Given the description of an element on the screen output the (x, y) to click on. 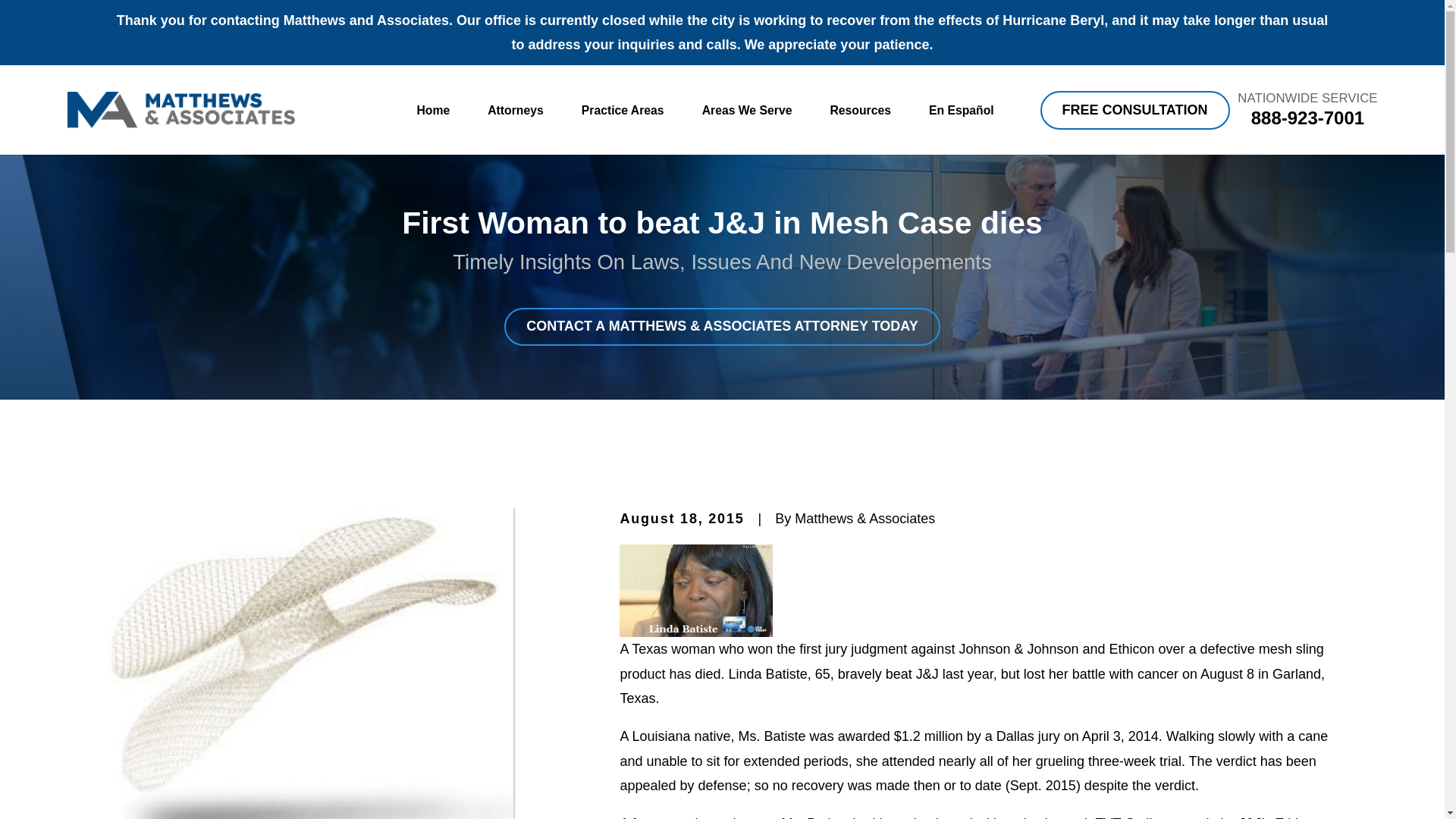
Attorneys (515, 110)
Home (180, 109)
Practice Areas (621, 110)
